Given the description of an element on the screen output the (x, y) to click on. 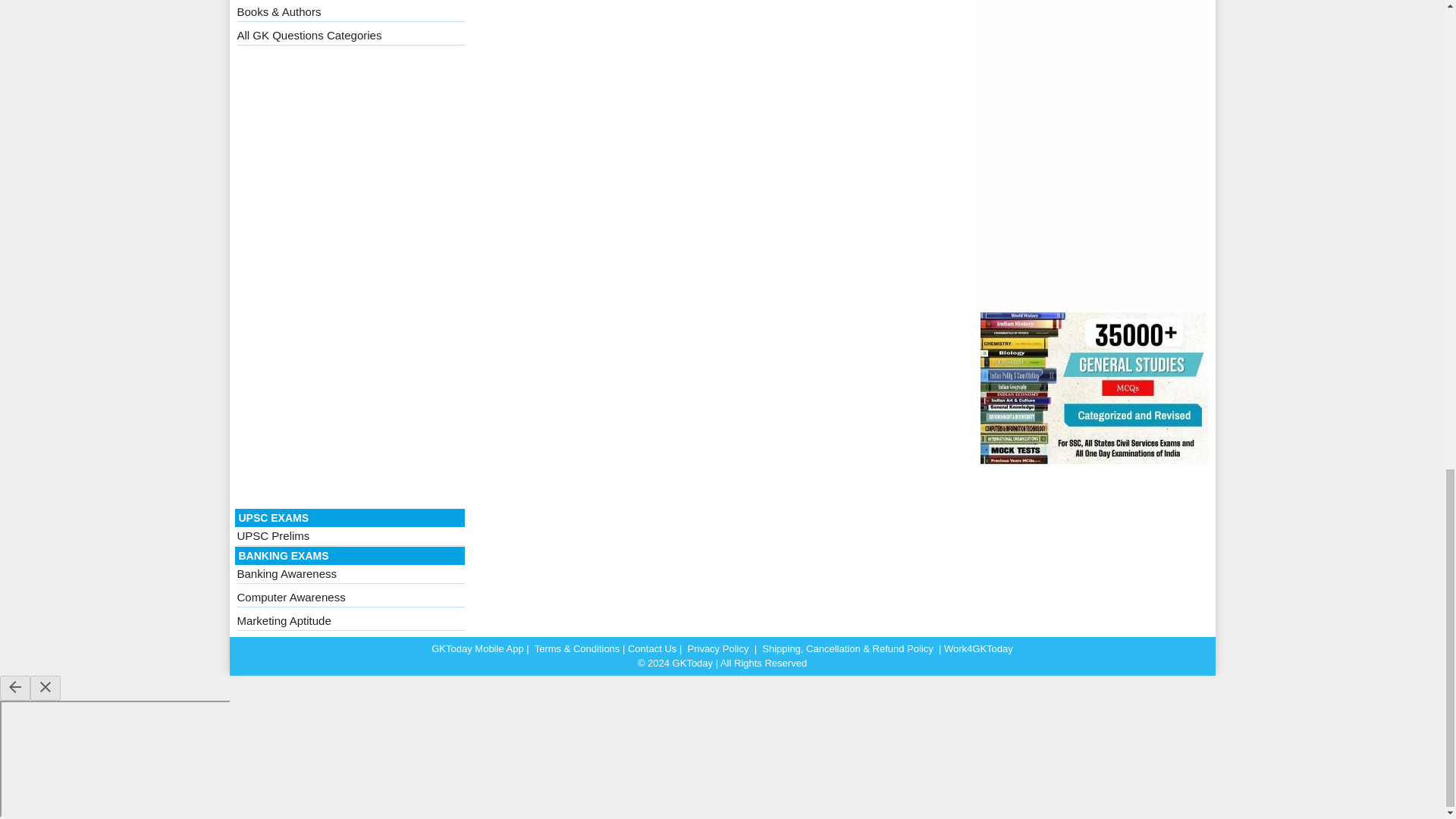
Advertisement (349, 280)
Advertisement (1093, 156)
